Given the description of an element on the screen output the (x, y) to click on. 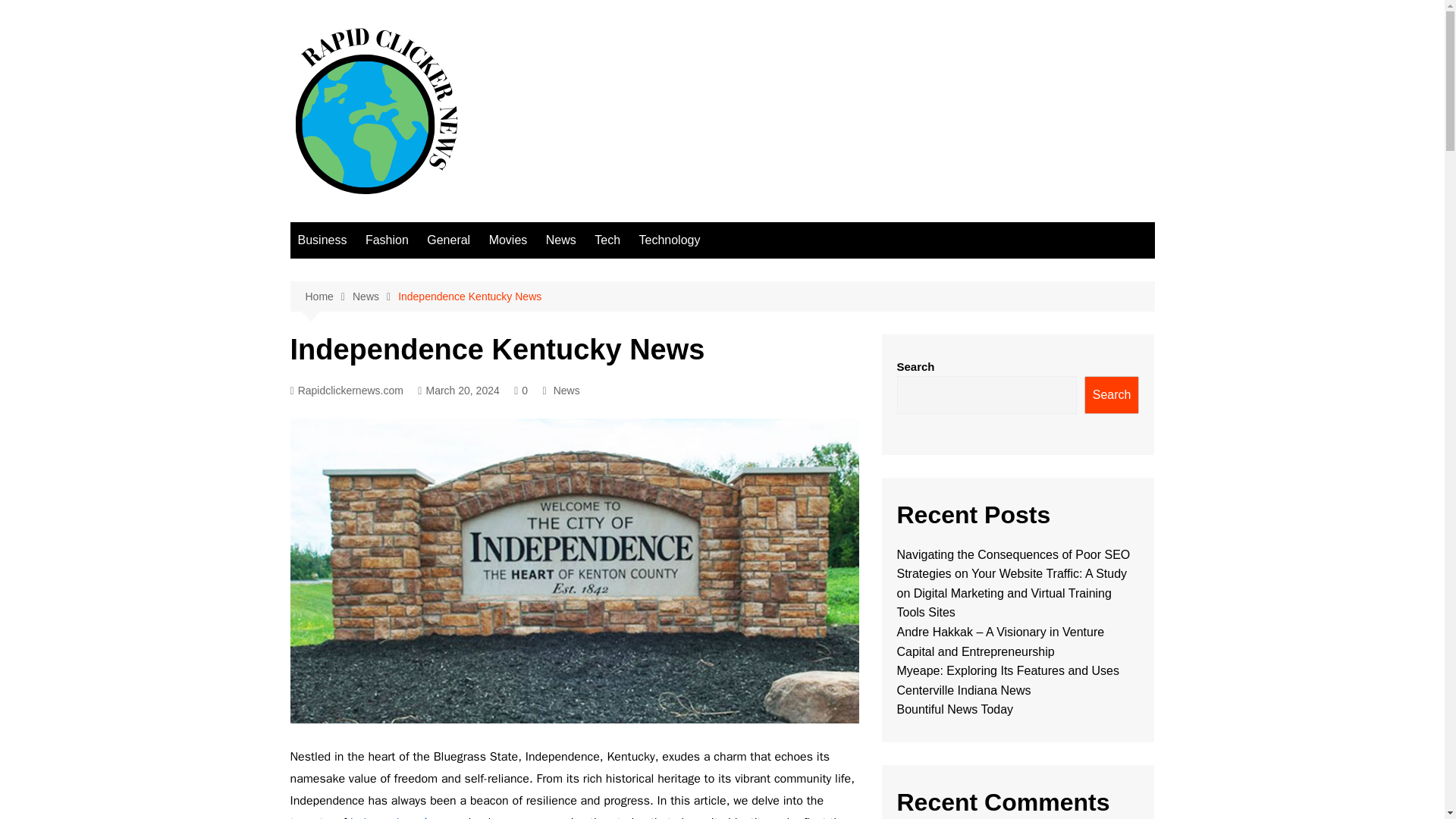
Tech (606, 239)
Rapidclickernews.com (346, 390)
March 20, 2024 (458, 390)
Home (328, 296)
News (566, 390)
Independence Kentucky News (469, 296)
Business (321, 239)
Fashion (387, 239)
General (448, 239)
Technology (668, 239)
